Given the description of an element on the screen output the (x, y) to click on. 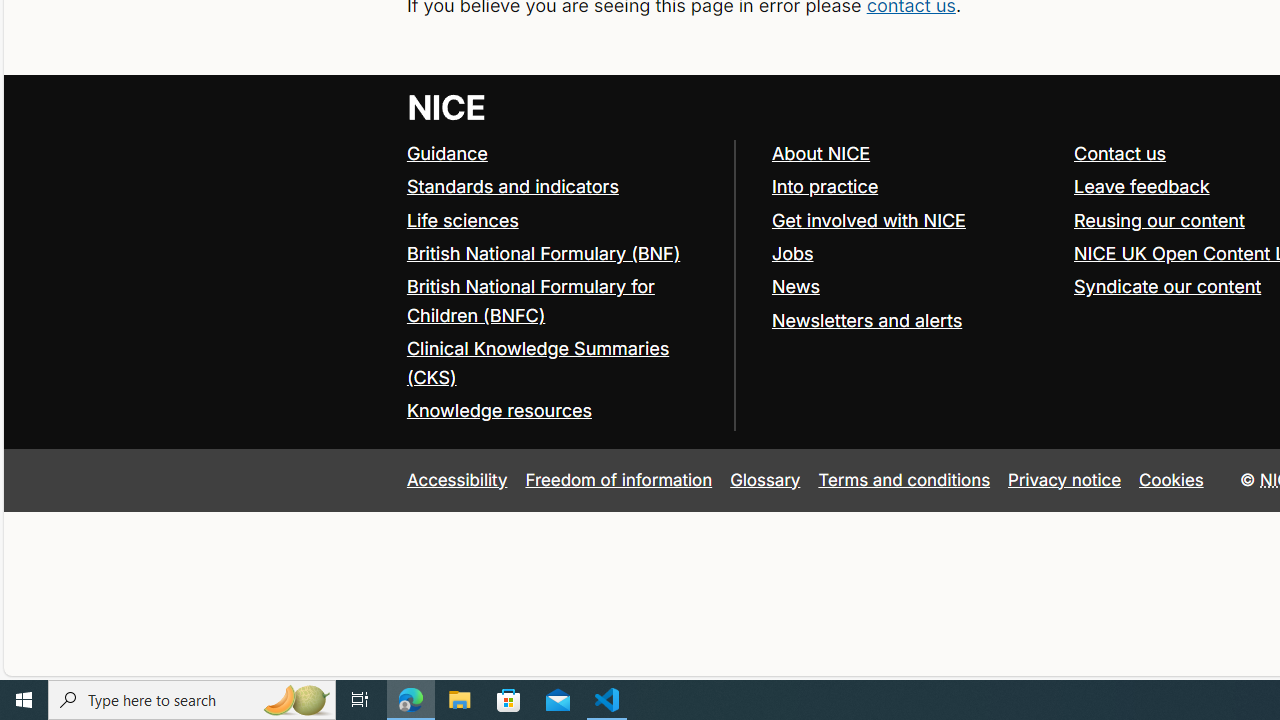
About NICE (820, 152)
Get involved with NICE (913, 220)
Freedom of information (618, 479)
Accessibility (456, 479)
Accessibility (456, 479)
Newsletters and alerts (913, 321)
Glossary (765, 479)
Glossary (765, 479)
British National Formulary for Children (BNFC) (530, 300)
Terms and conditions (903, 479)
News (795, 285)
Jobs (792, 252)
Newsletters and alerts (866, 319)
